Given the description of an element on the screen output the (x, y) to click on. 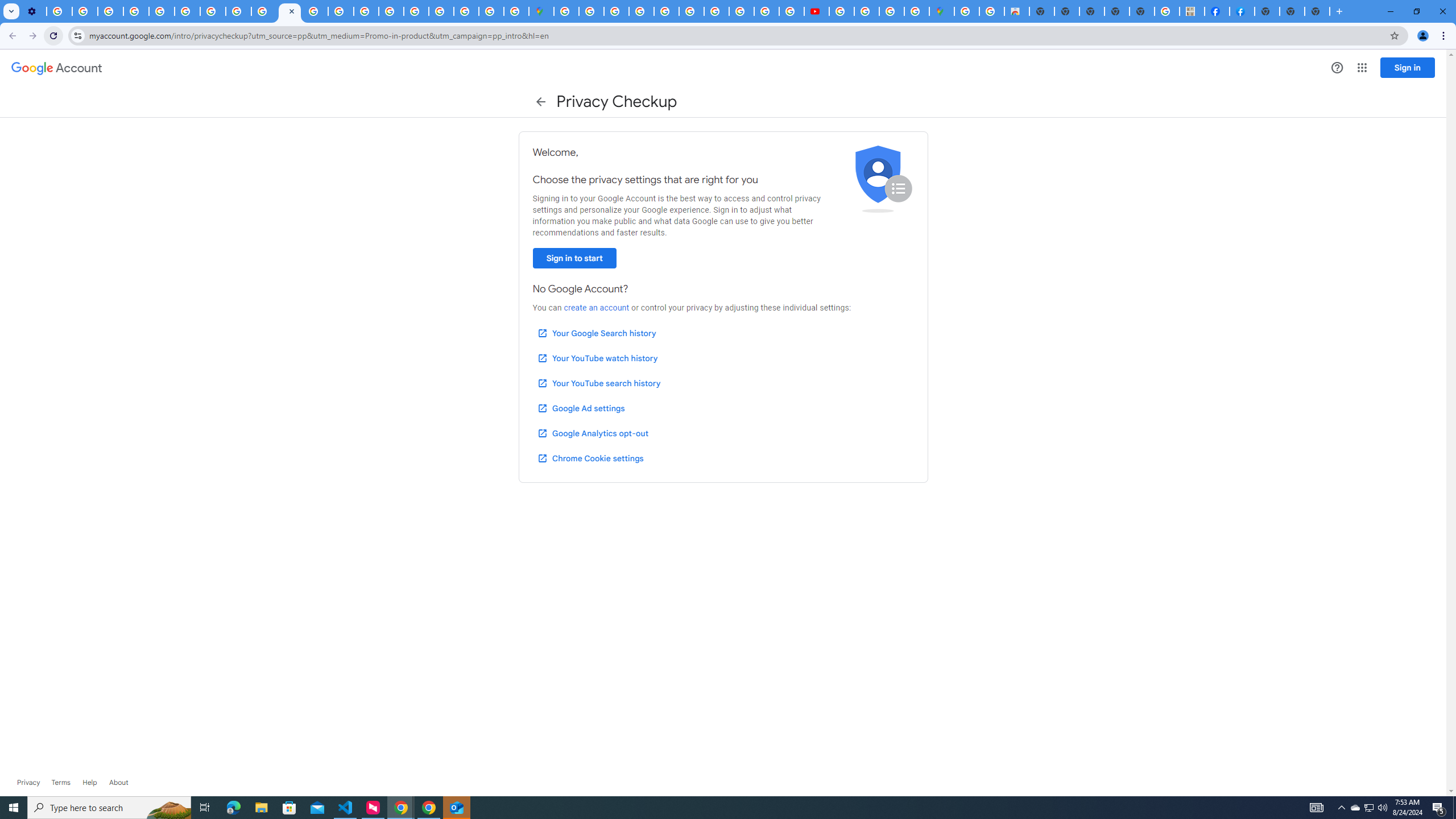
Privacy Help Center - Policies Help (161, 11)
Privacy Help Center - Policies Help (340, 11)
Google Ad settings (580, 408)
Google Maps (541, 11)
Chrome Cookie settings (589, 457)
Subscriptions - YouTube (816, 11)
Sign in - Google Accounts (590, 11)
